Given the description of an element on the screen output the (x, y) to click on. 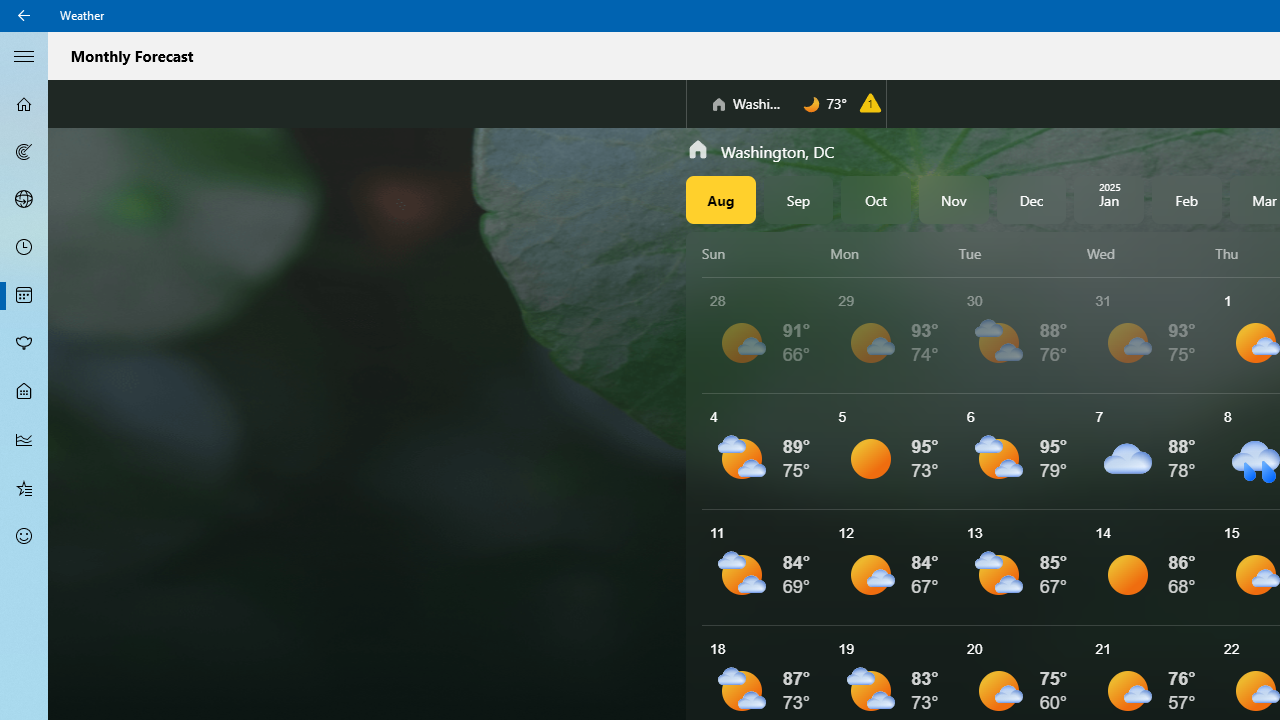
Historical Weather - Not Selected (24, 439)
Hourly Forecast - Not Selected (24, 247)
Forecast - Not Selected (24, 103)
Favorites - Not Selected (24, 487)
Hourly Forecast - Not Selected (24, 247)
Pollen - Not Selected (24, 343)
Pollen - Not Selected (24, 343)
